Given the description of an element on the screen output the (x, y) to click on. 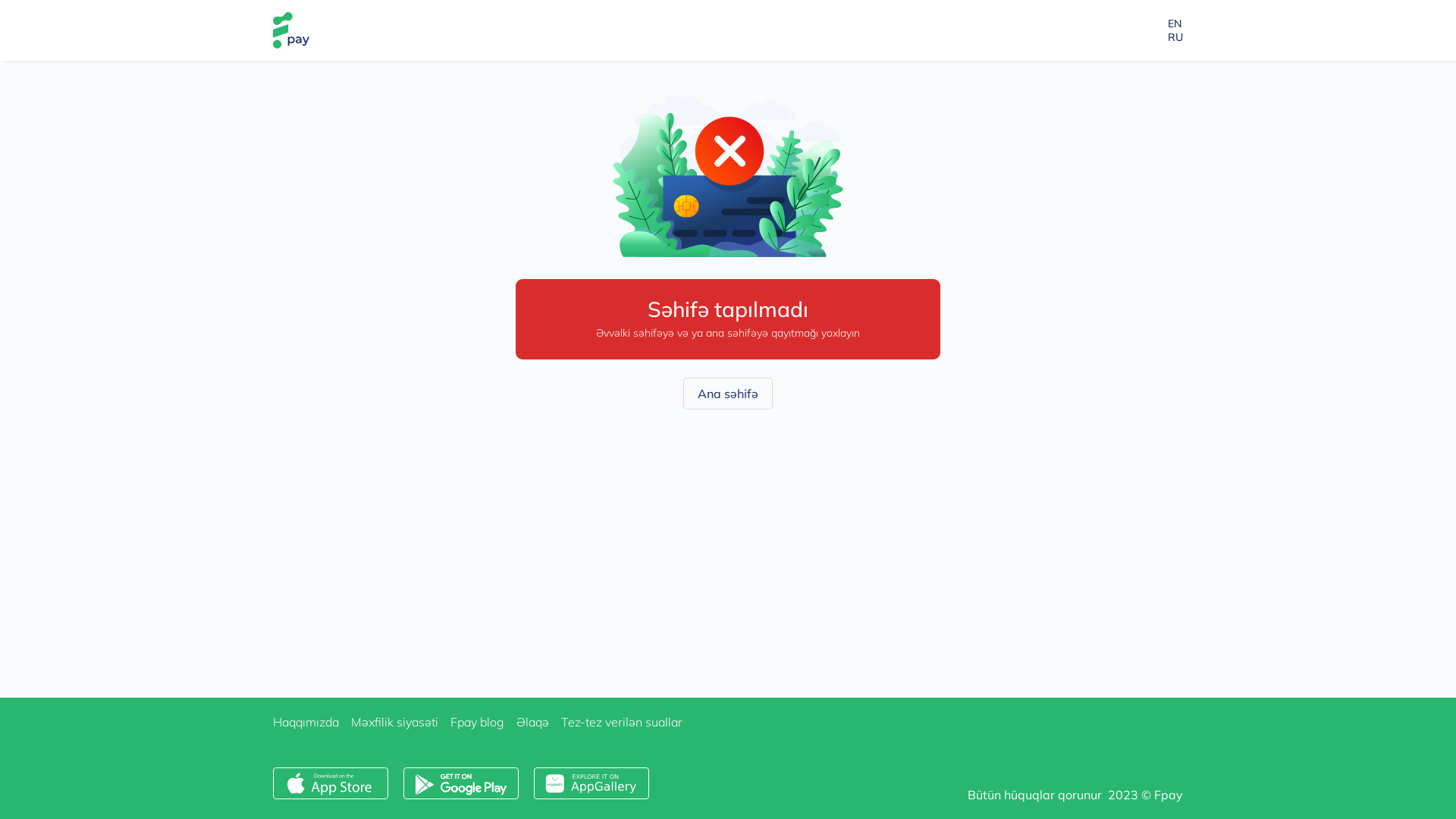
RU Element type: text (1175, 36)
EN Element type: text (1174, 23)
Fpay blog Element type: text (477, 721)
